Given the description of an element on the screen output the (x, y) to click on. 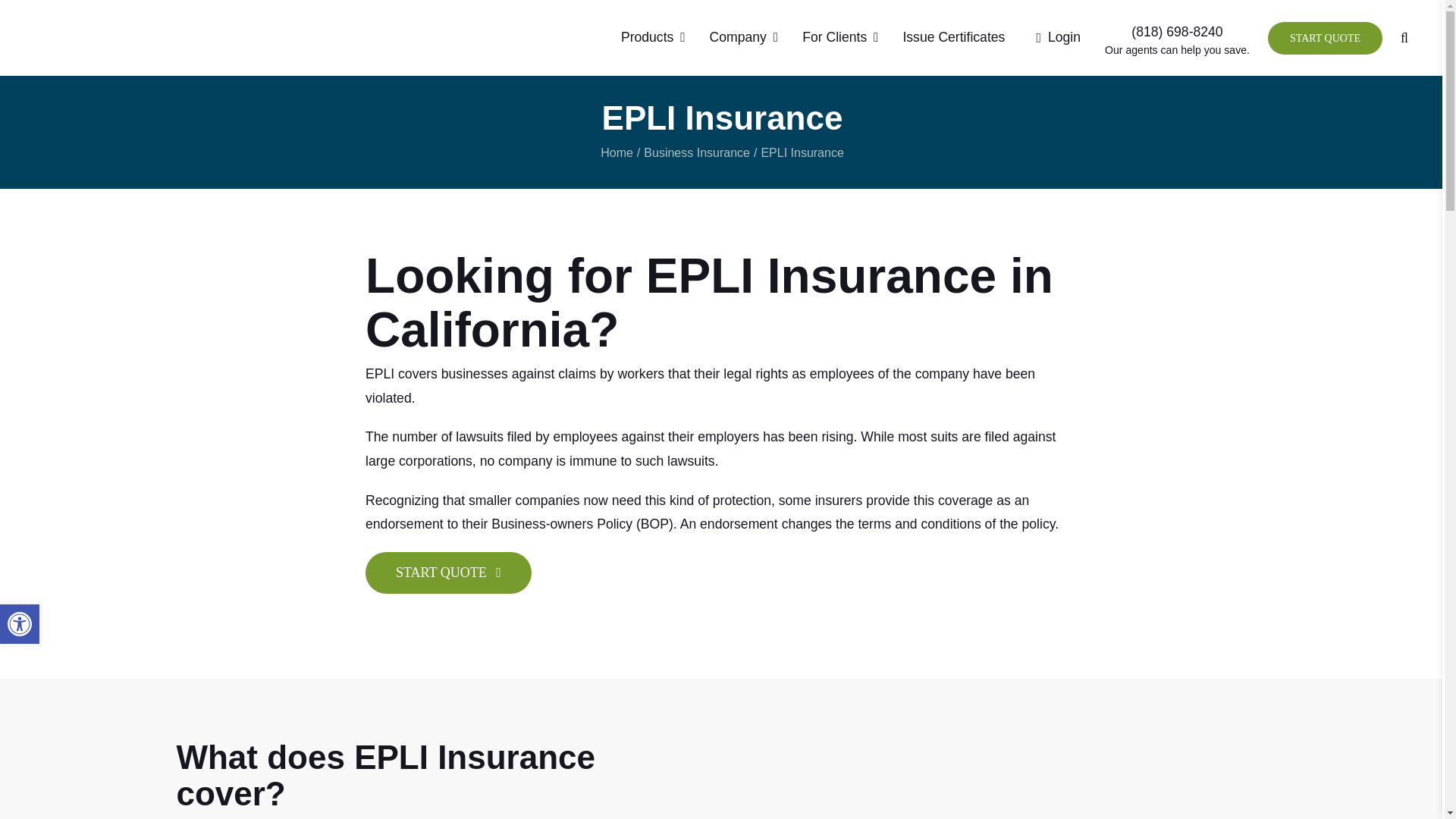
Accessibility Tools (19, 623)
Accessibility Tools (19, 623)
